Given the description of an element on the screen output the (x, y) to click on. 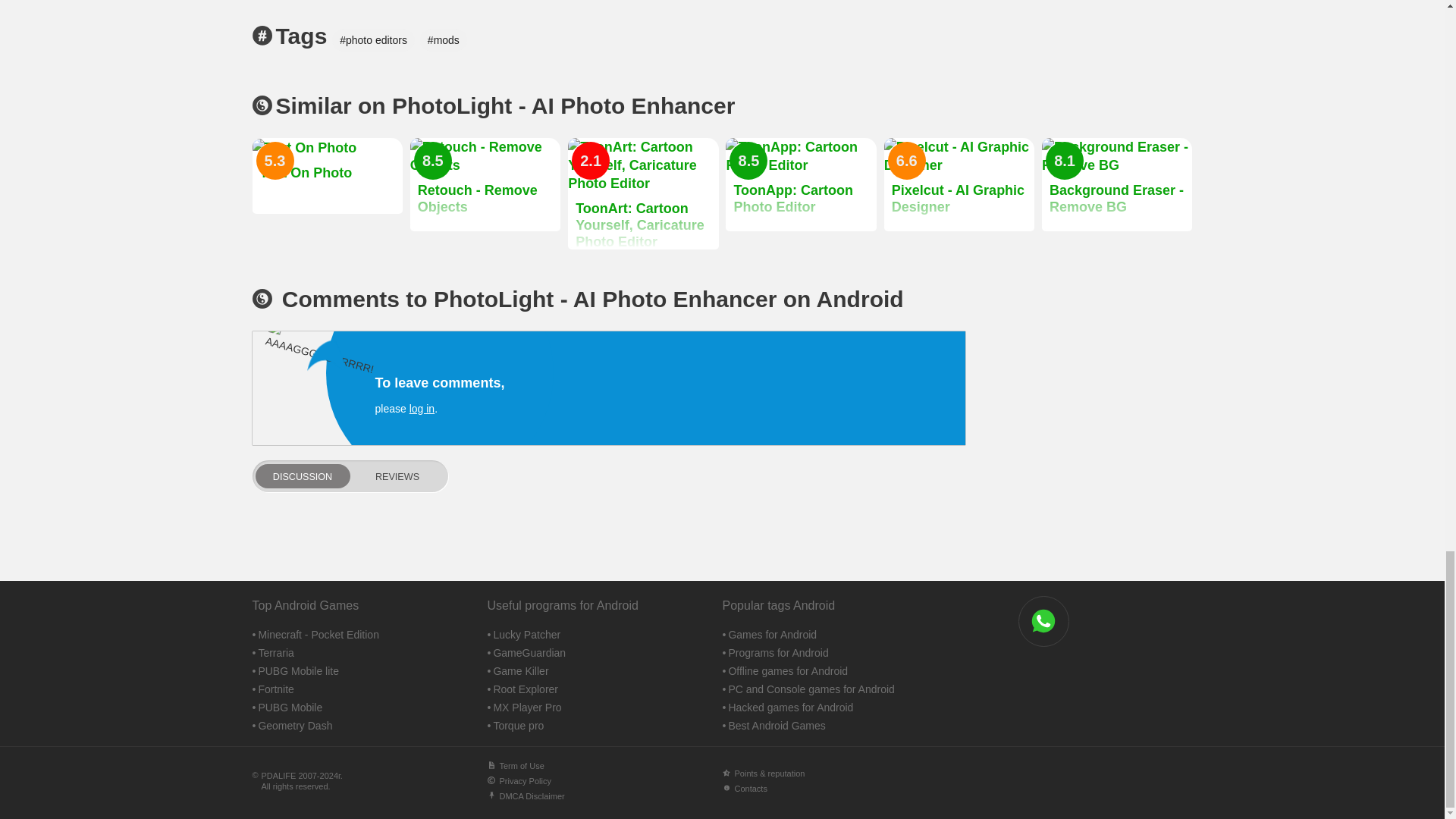
Pixelcut - AI Graphic Designer (958, 184)
ToonArt: Cartoon Yourself, Caricature Photo Editor (642, 193)
Text On Photo (326, 175)
Background Eraser - Remove BG (1117, 184)
ToonApp: Cartoon Photo Editor (800, 184)
Whatsapp (1042, 621)
Retouch - Remove Objects (485, 184)
